Given the description of an element on the screen output the (x, y) to click on. 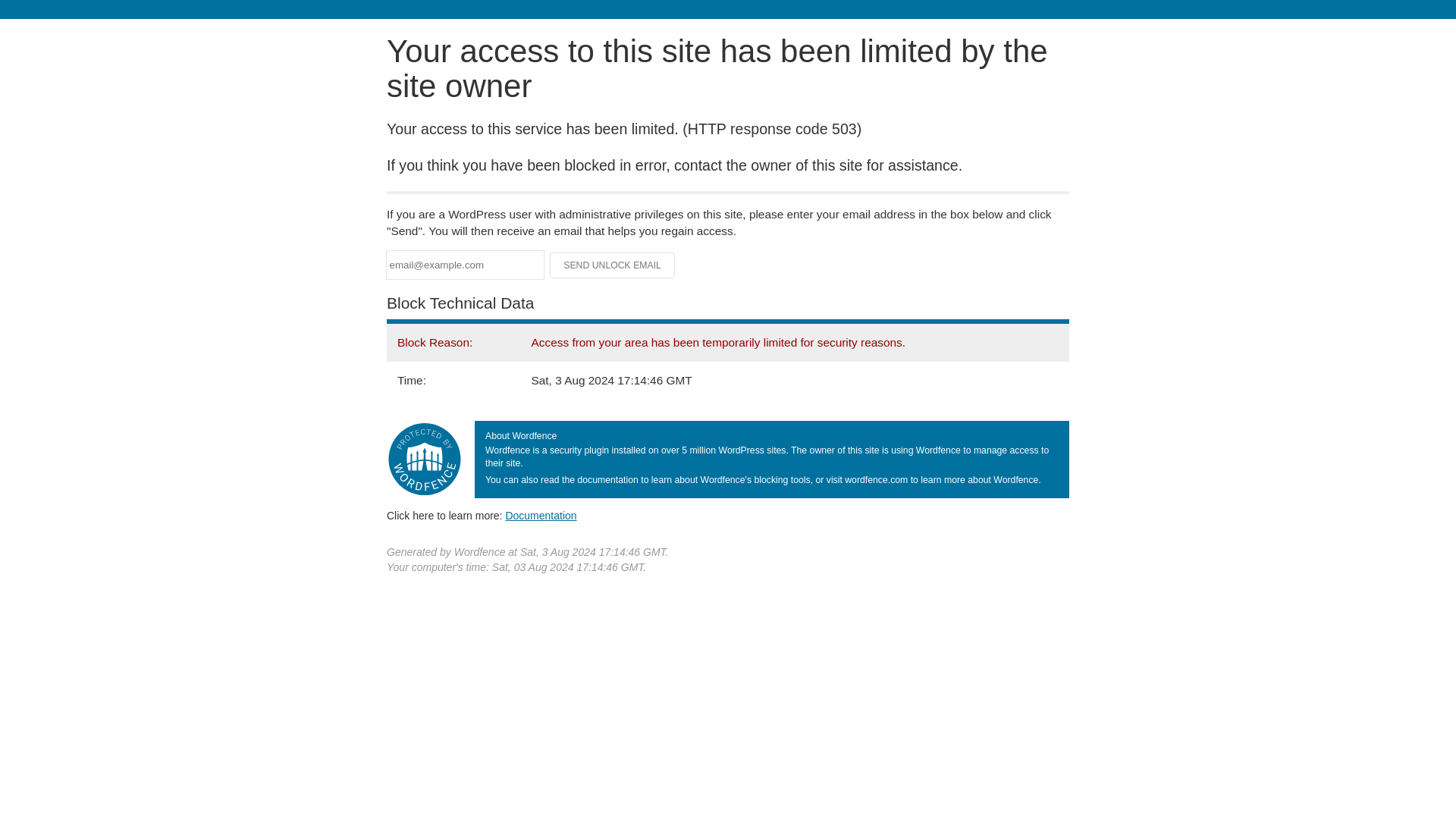
Send Unlock Email (612, 265)
Send Unlock Email (612, 265)
Documentation (540, 515)
